Given the description of an element on the screen output the (x, y) to click on. 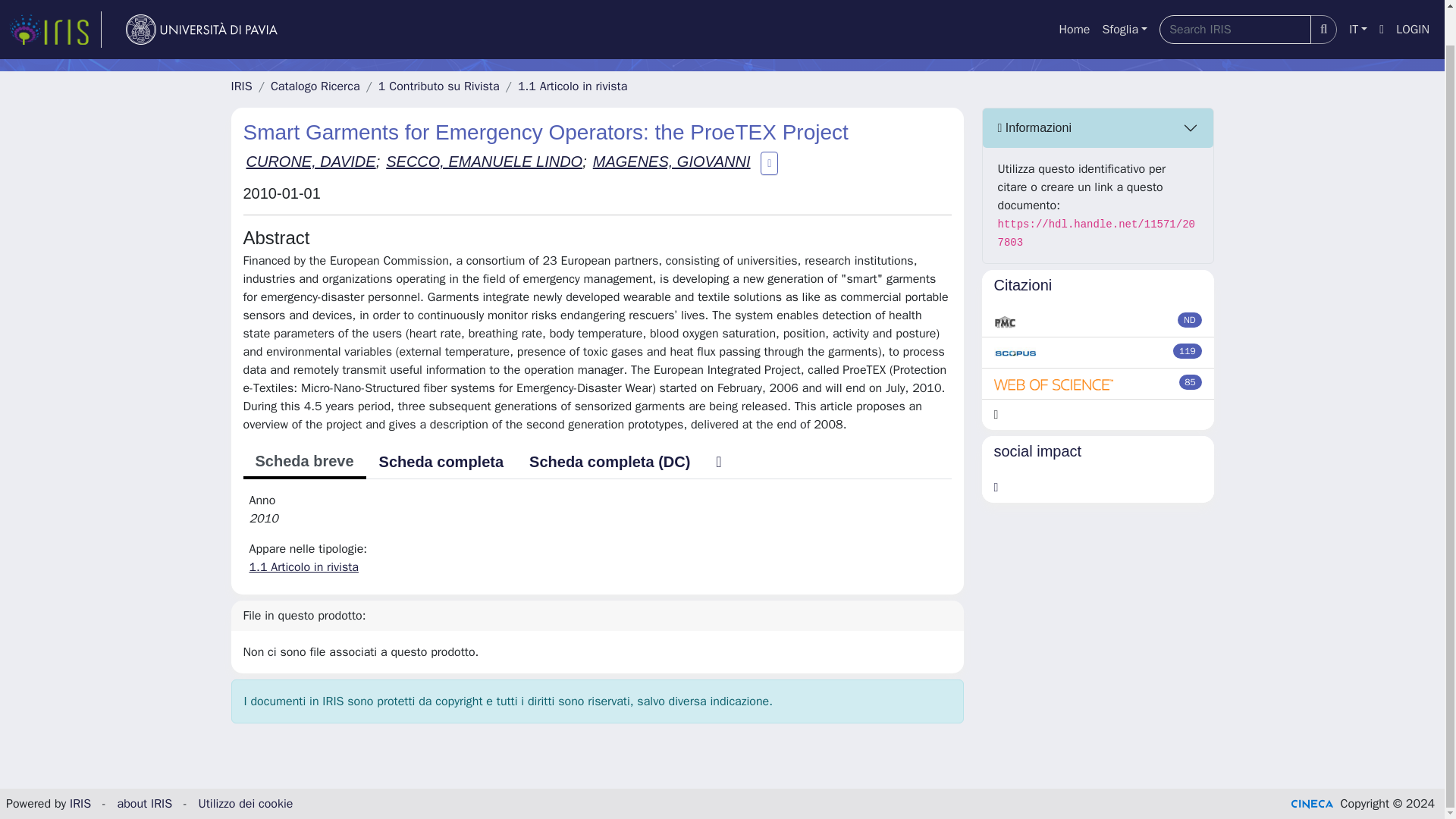
Home (1074, 4)
1.1 Articolo in rivista (572, 86)
Scheda breve (304, 462)
1.1 Articolo in rivista (303, 566)
LOGIN (1412, 4)
IT (1357, 4)
MAGENES, GIOVANNI (671, 161)
aggiornato in data 05-07-2024 23:20 (1187, 350)
 Informazioni (1097, 128)
Catalogo Ricerca (314, 86)
SECCO, EMANUELE LINDO (483, 161)
mostra contributor esterni (769, 163)
CURONE, DAVIDE (310, 161)
Sfoglia (1124, 4)
Scheda completa (441, 461)
